Given the description of an element on the screen output the (x, y) to click on. 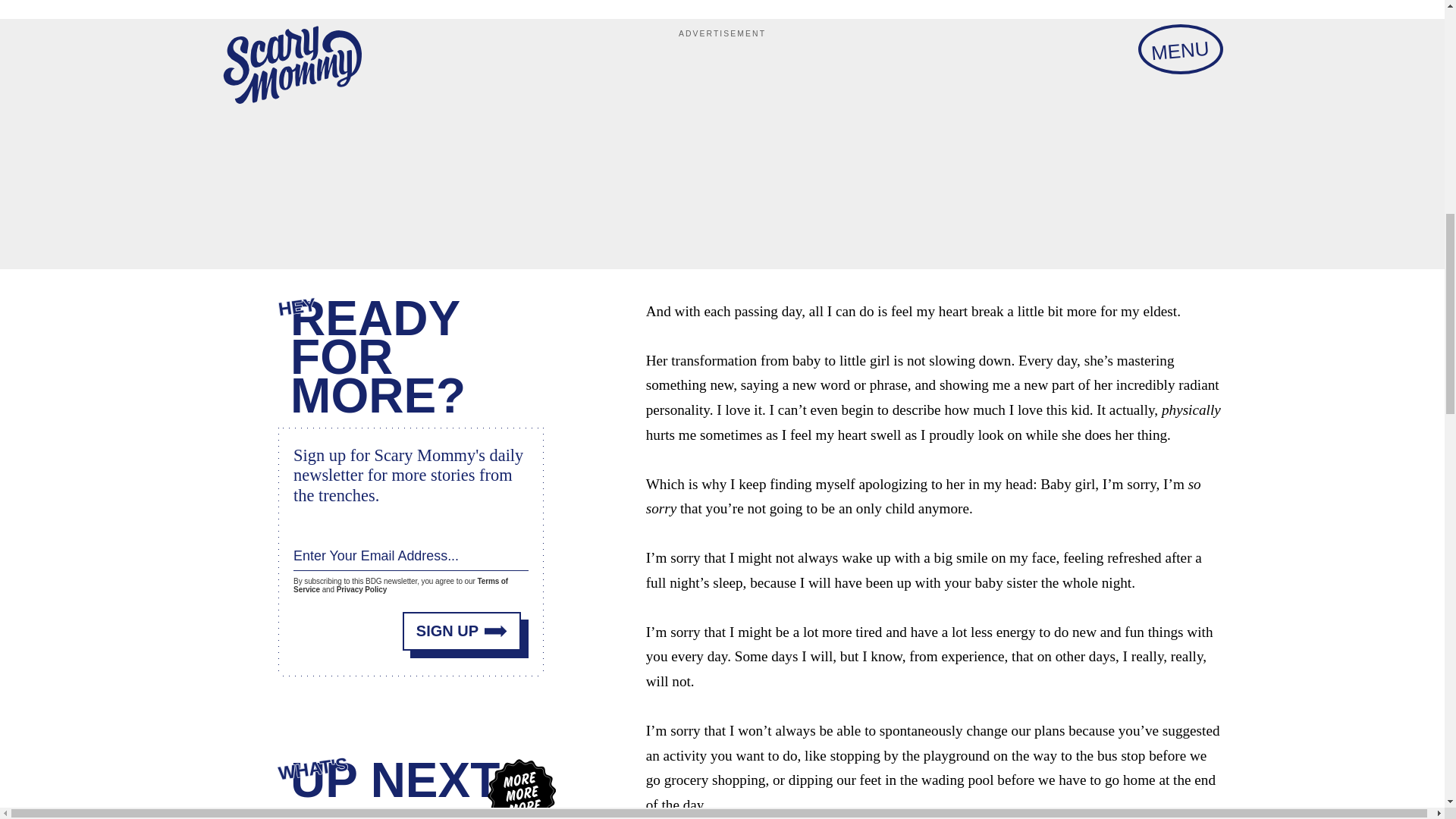
SIGN UP (462, 629)
Terms of Service (401, 584)
Privacy Policy (361, 589)
